Given the description of an element on the screen output the (x, y) to click on. 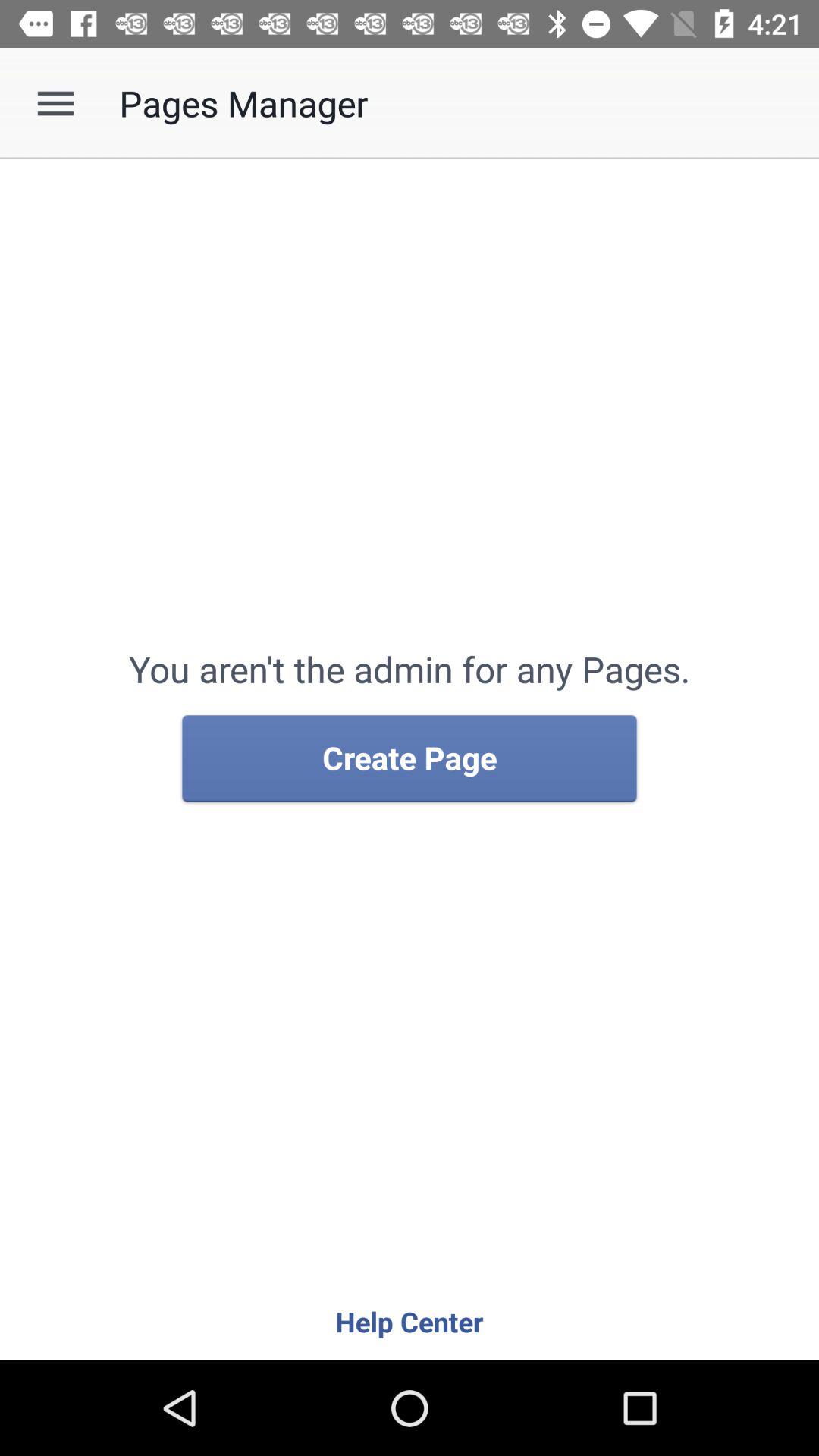
turn off create page item (409, 759)
